Given the description of an element on the screen output the (x, y) to click on. 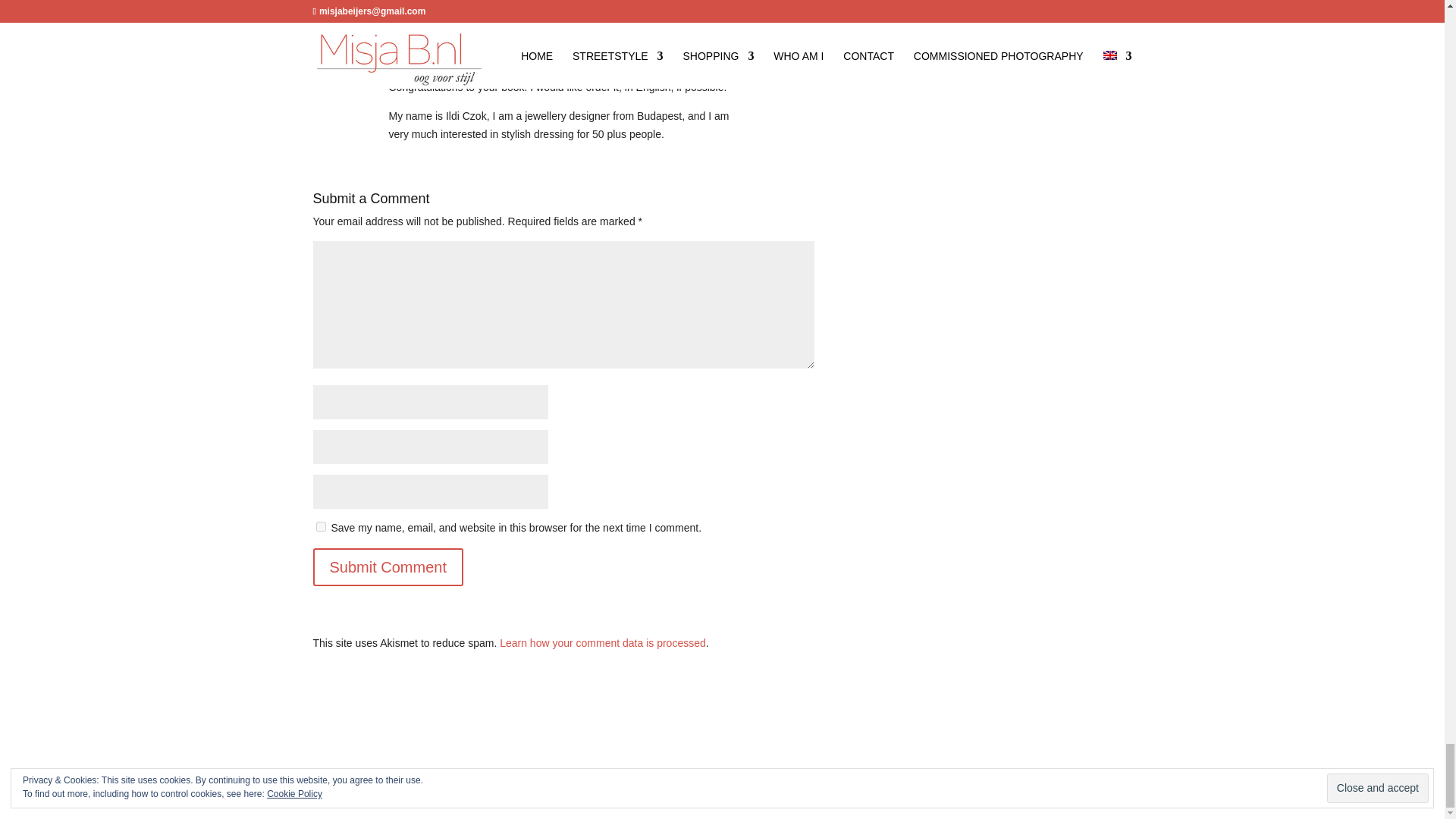
yes (319, 526)
Submit Comment (388, 566)
